Given the description of an element on the screen output the (x, y) to click on. 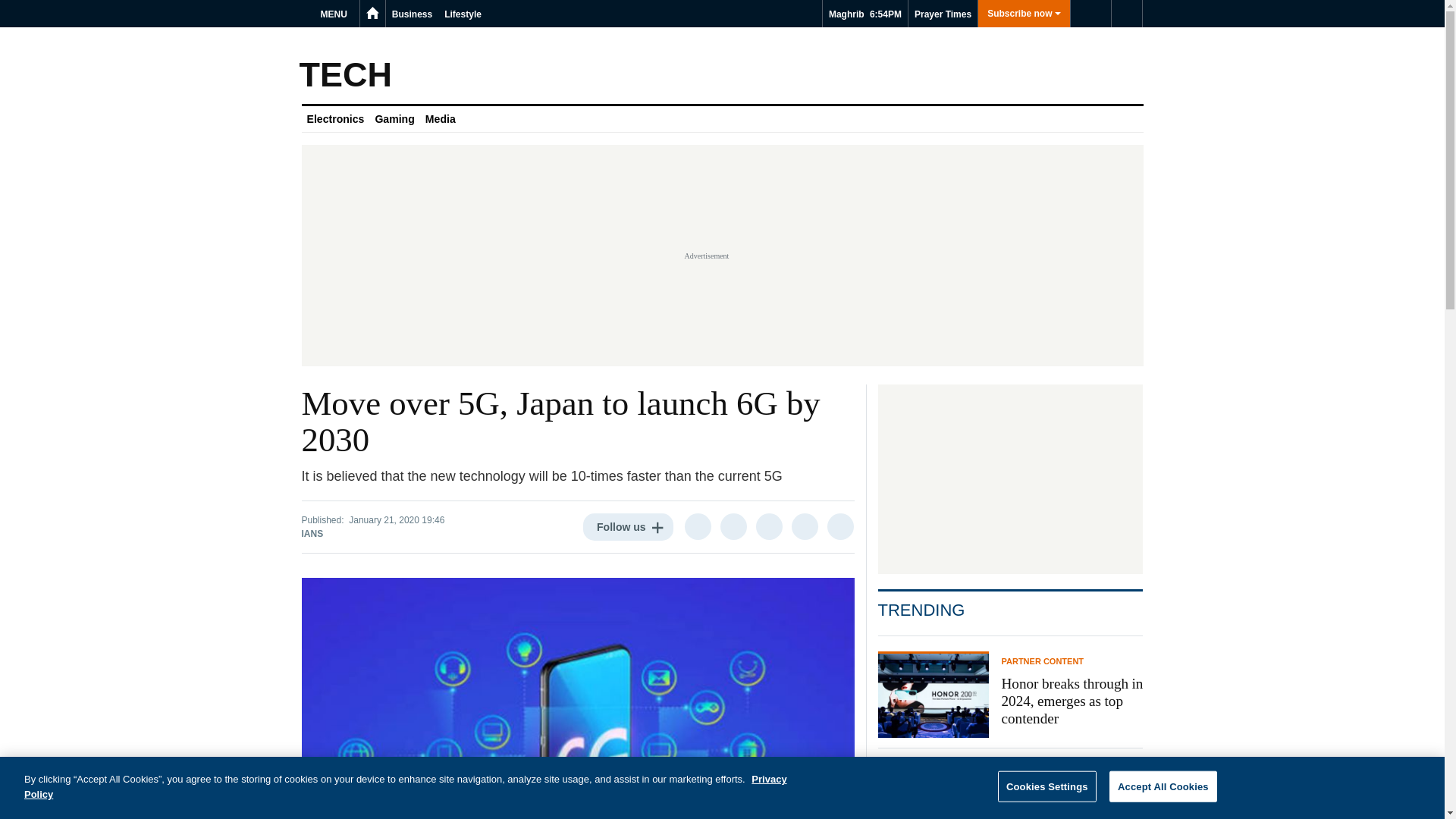
Business (411, 13)
Prayer Times (942, 13)
Maghrib 6:54PM (864, 13)
MENU (336, 13)
Subscribe now (1024, 13)
Lifestyle (462, 13)
